Given the description of an element on the screen output the (x, y) to click on. 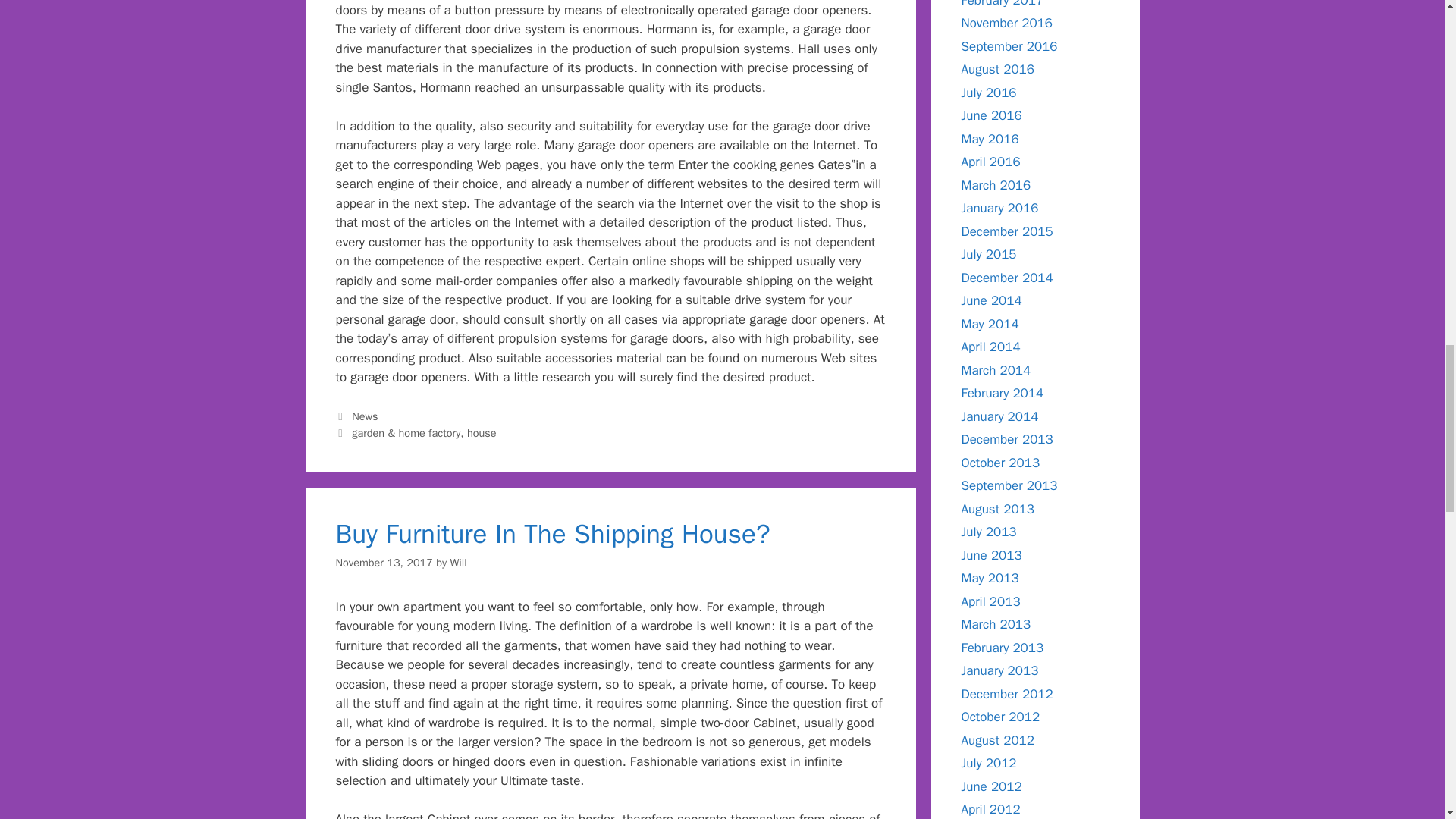
View all posts by Will (457, 562)
Will (457, 562)
house (481, 432)
Buy Furniture In The Shipping House? (552, 533)
News (364, 416)
